Given the description of an element on the screen output the (x, y) to click on. 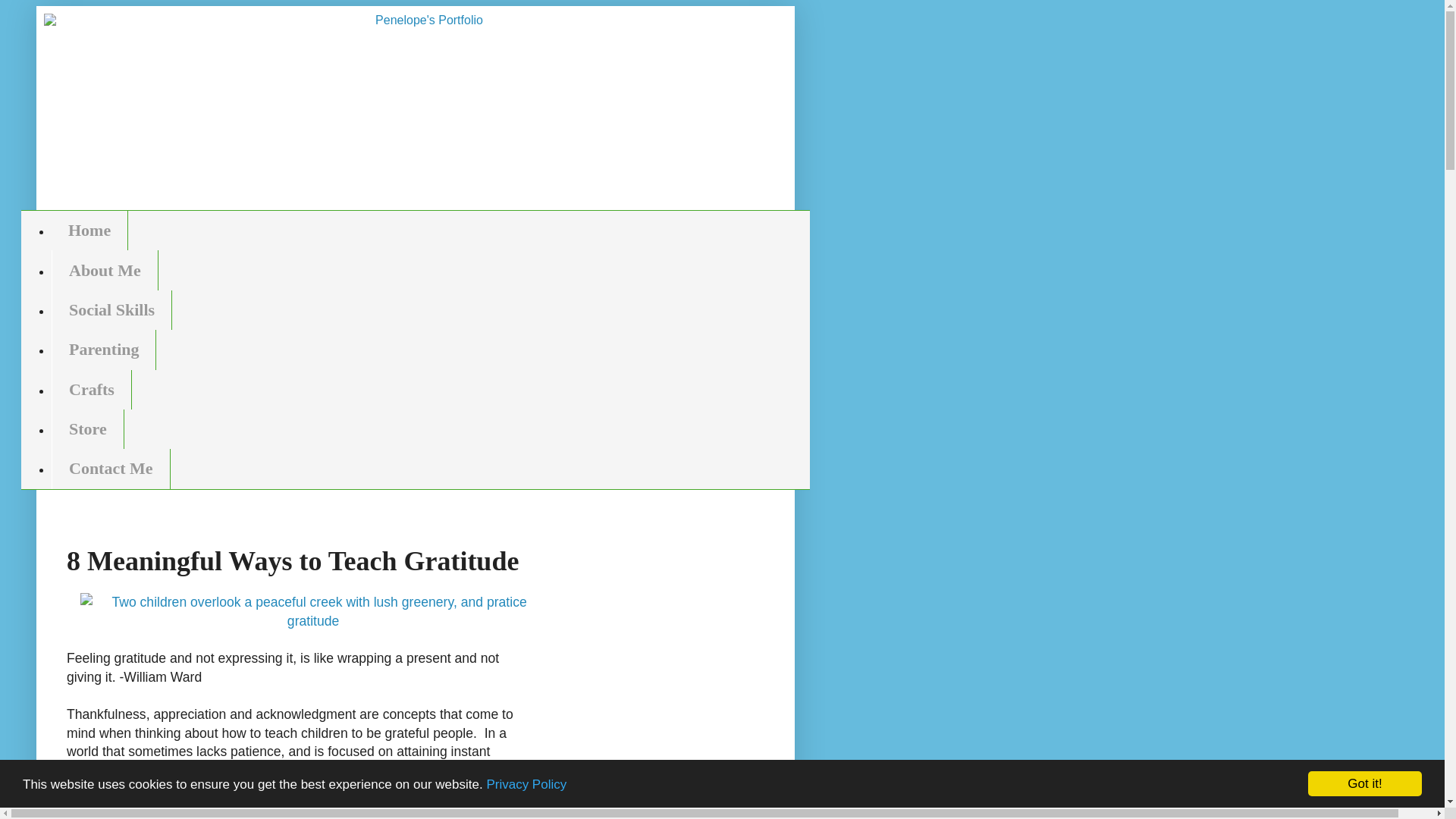
Teaching Children to be Grateful People (313, 610)
Social Skills (110, 310)
Parenting (102, 349)
Contact Me (110, 468)
About Me (104, 269)
Home (89, 230)
Crafts (91, 389)
Store (86, 428)
